Given the description of an element on the screen output the (x, y) to click on. 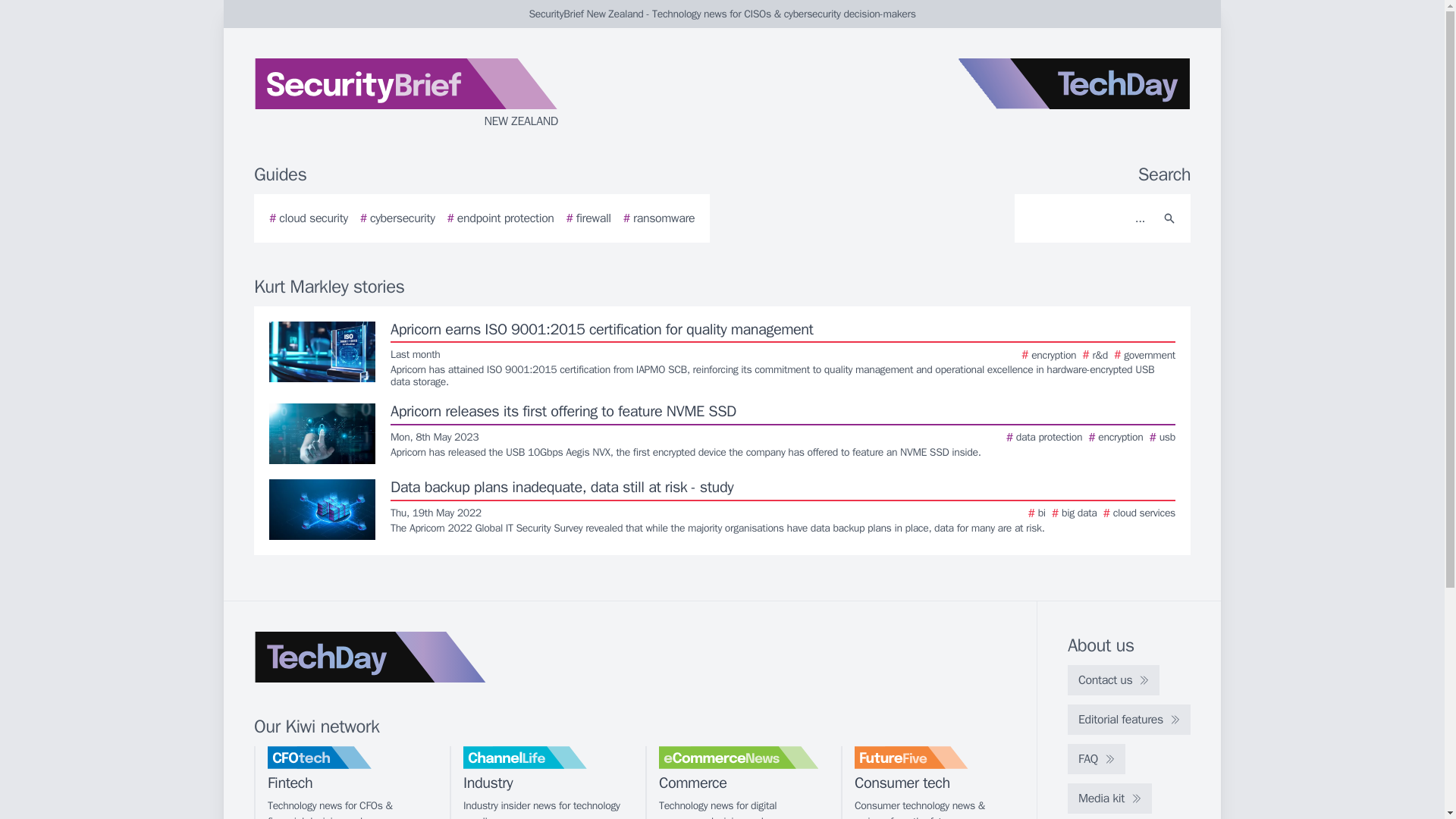
NEW ZEALAND (435, 94)
Editorial features (1129, 719)
FAQ (1096, 758)
Contact us (1112, 680)
